Given the description of an element on the screen output the (x, y) to click on. 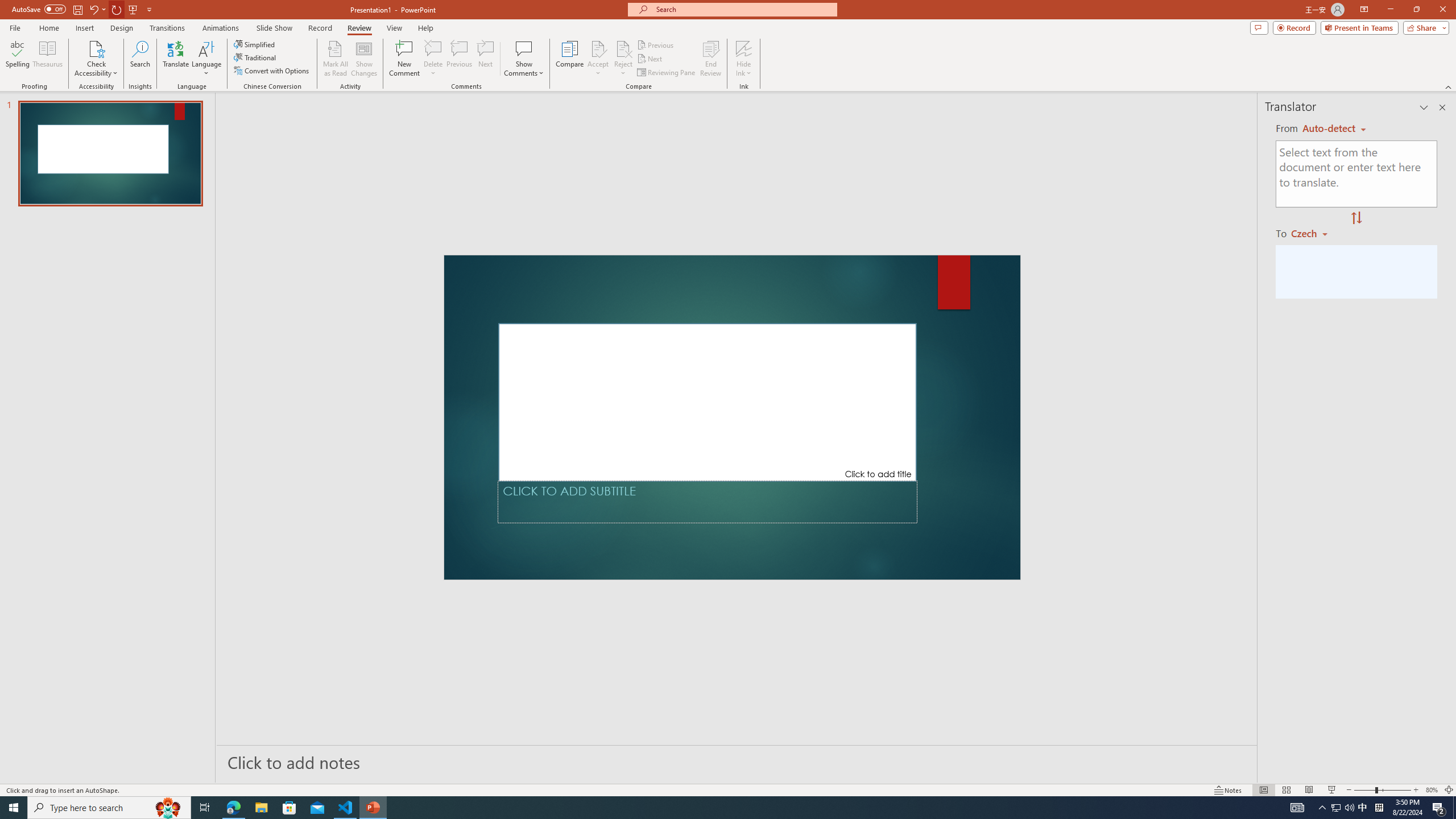
Compare (569, 58)
Language (206, 58)
